Given the description of an element on the screen output the (x, y) to click on. 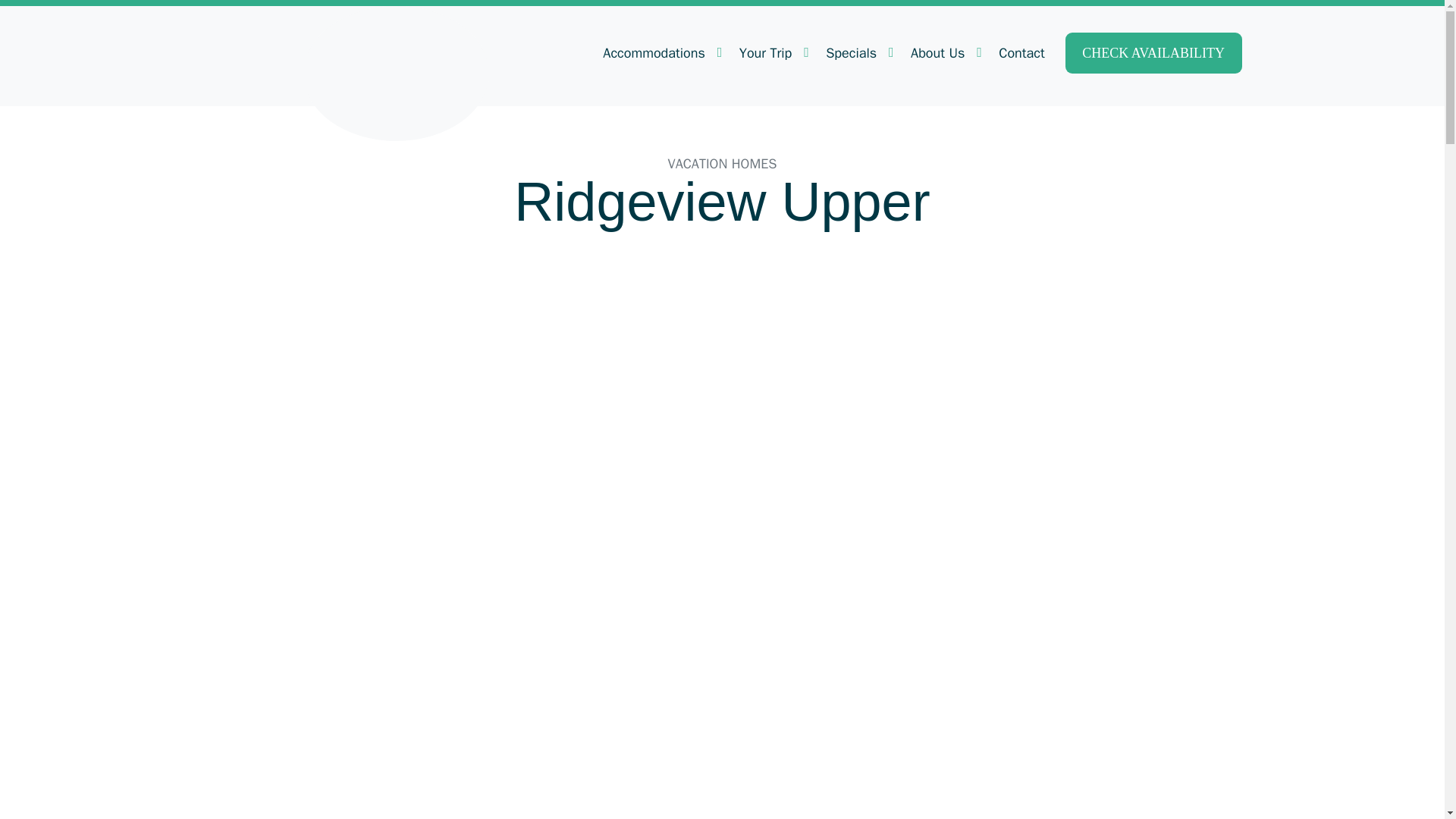
Accommodations (660, 53)
Specials (857, 53)
Your Trip (772, 53)
Silver Star Stays (395, 70)
Silver Star Stays (395, 70)
Your Trip (772, 53)
Contact (1021, 53)
CHECK AVAILABILITY (1153, 52)
About Us (944, 53)
Specials (857, 53)
